Given the description of an element on the screen output the (x, y) to click on. 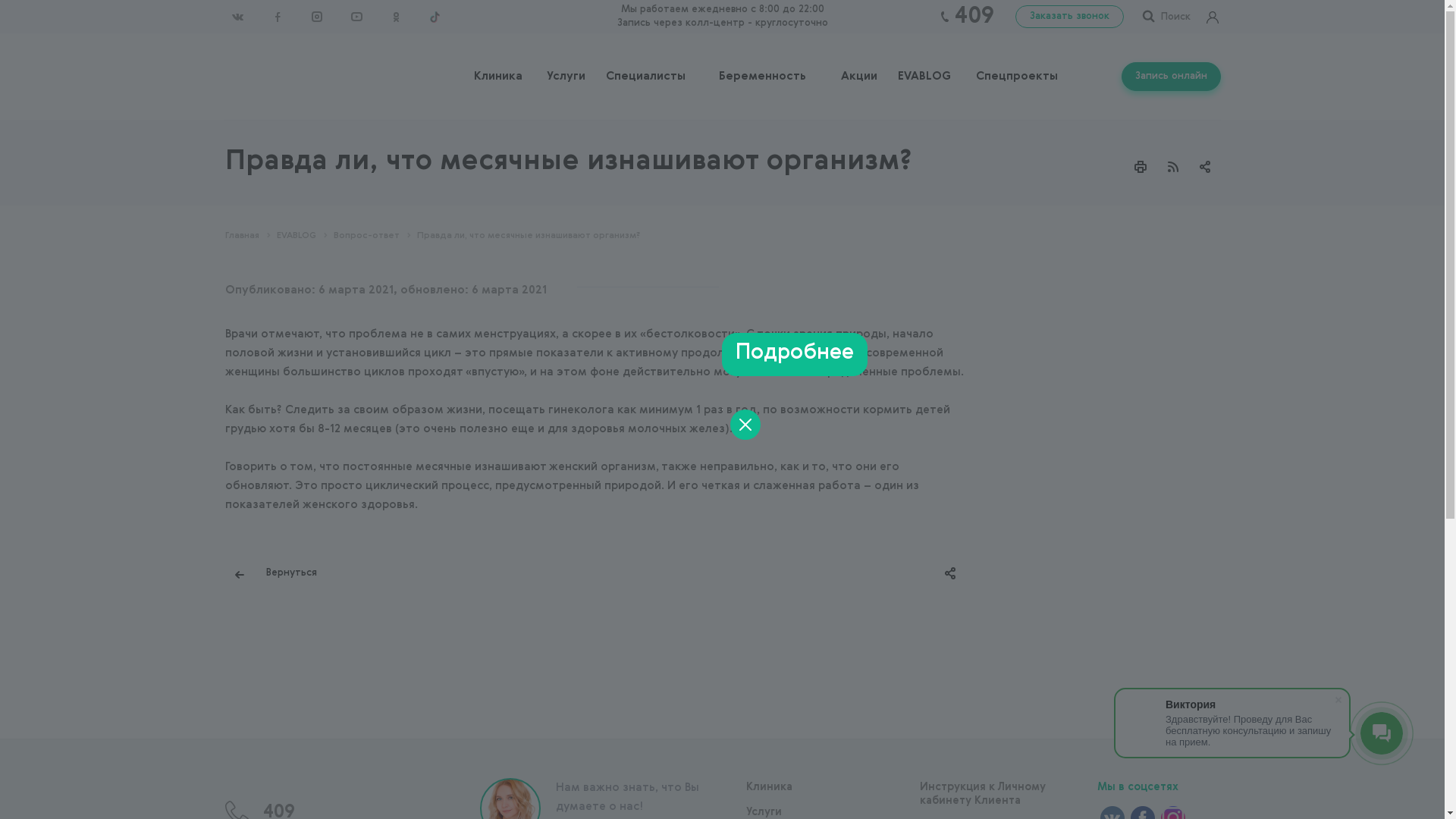
YouTube Element type: text (355, 16)
RSS Element type: text (1172, 166)
409 Element type: text (973, 16)
EVABLOG Element type: text (924, 76)
EVACLINIC Element type: hover (224, 74)
EVACLINIC Element type: hover (224, 778)
Facebook Element type: text (276, 16)
TikTok Element type: text (434, 16)
Instagram Element type: text (316, 16)
EVABLOG Element type: text (295, 235)
